Given the description of an element on the screen output the (x, y) to click on. 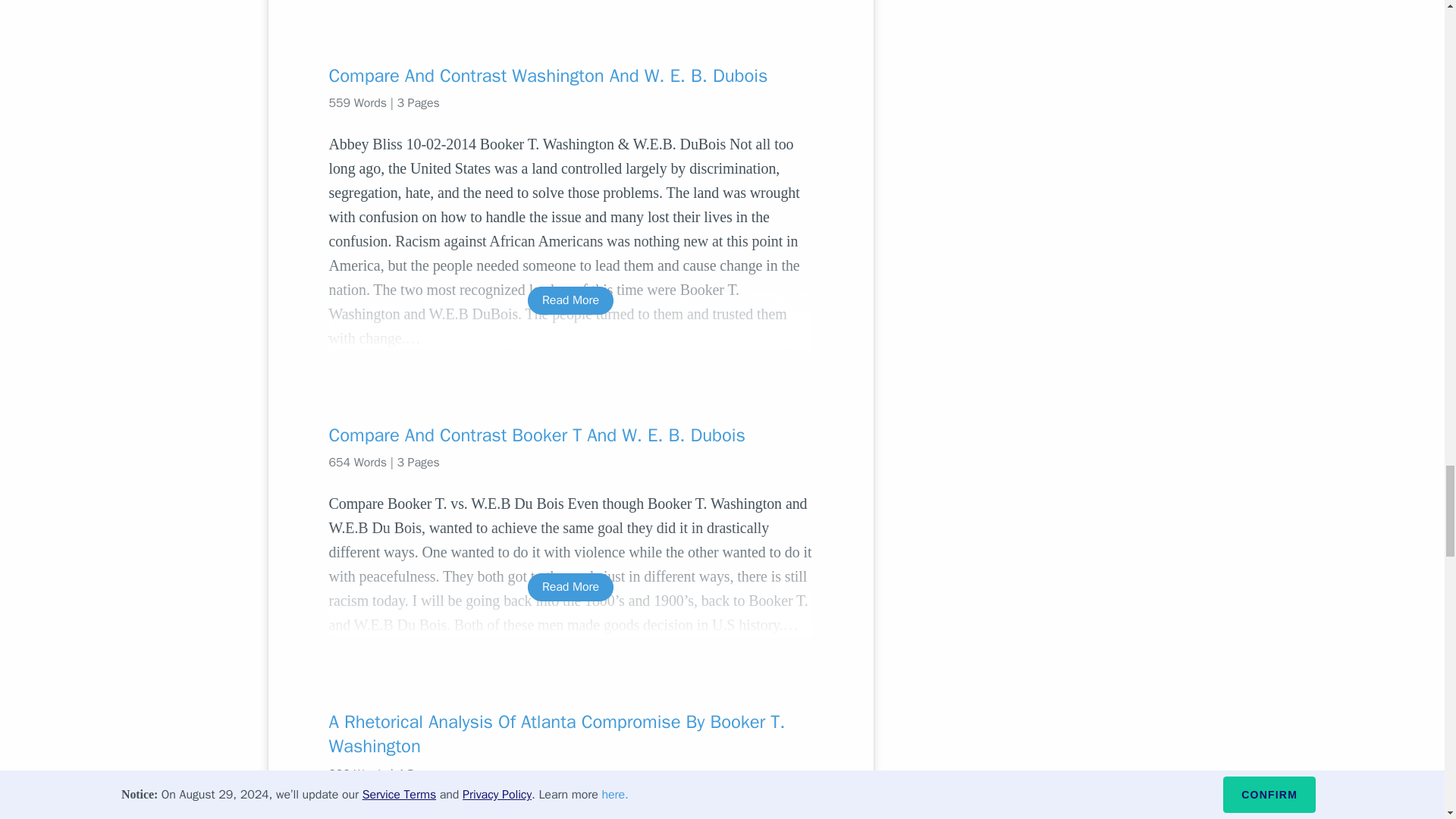
Read More (569, 587)
Read More (569, 300)
Compare And Contrast Booker T And W. E. B. Dubois (570, 435)
Compare And Contrast Washington And W. E. B. Dubois (570, 75)
